Given the description of an element on the screen output the (x, y) to click on. 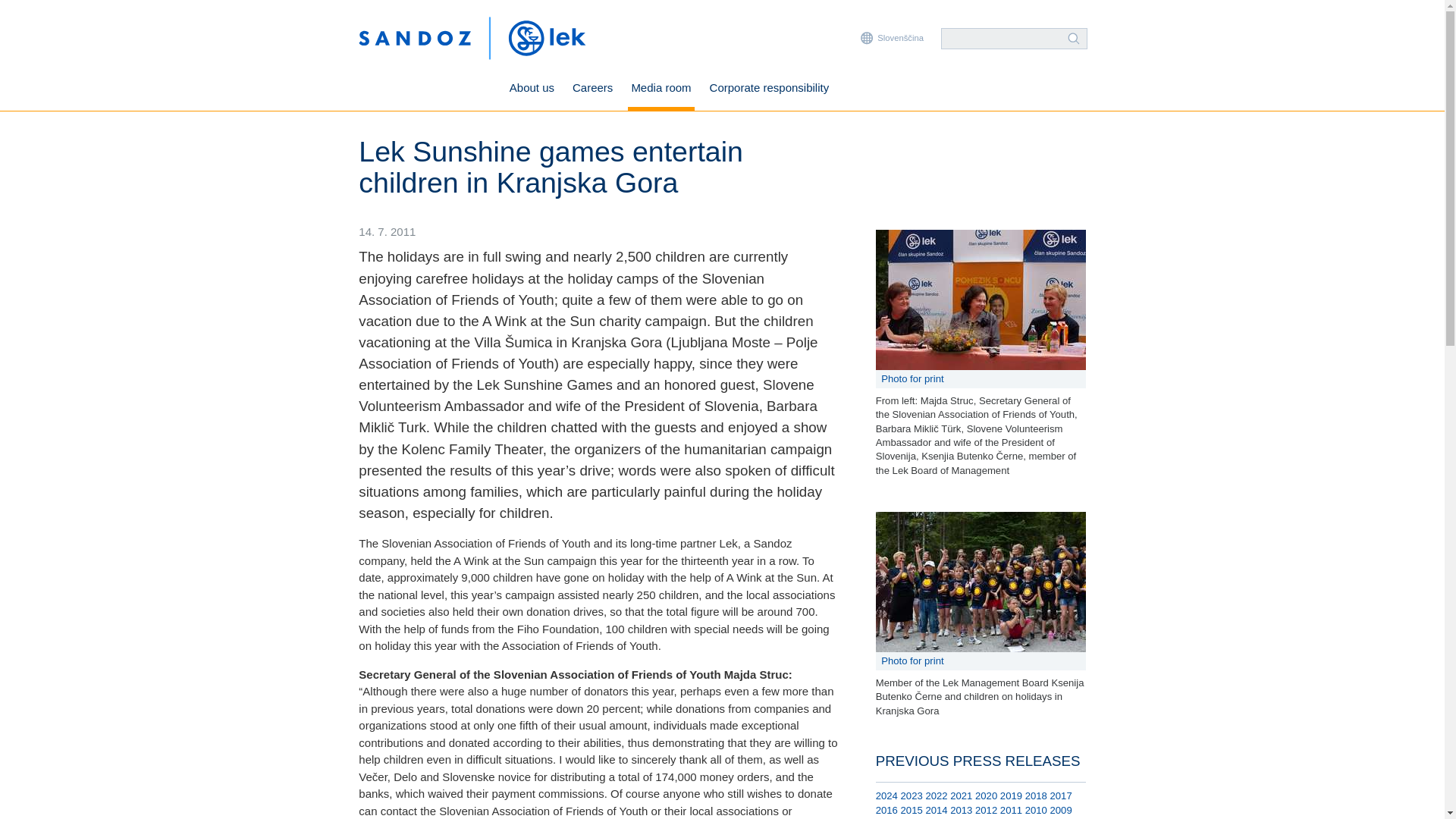
Photo for print (981, 379)
2013 (961, 809)
About us (531, 89)
Media room (660, 89)
2011 (1011, 809)
2018 (1035, 795)
2023 (912, 795)
2024 (887, 795)
2021 (961, 795)
2022 (935, 795)
Corporate responsibility (769, 89)
Careers (592, 89)
2014 (935, 809)
2016 (887, 809)
2012 (986, 809)
